Given the description of an element on the screen output the (x, y) to click on. 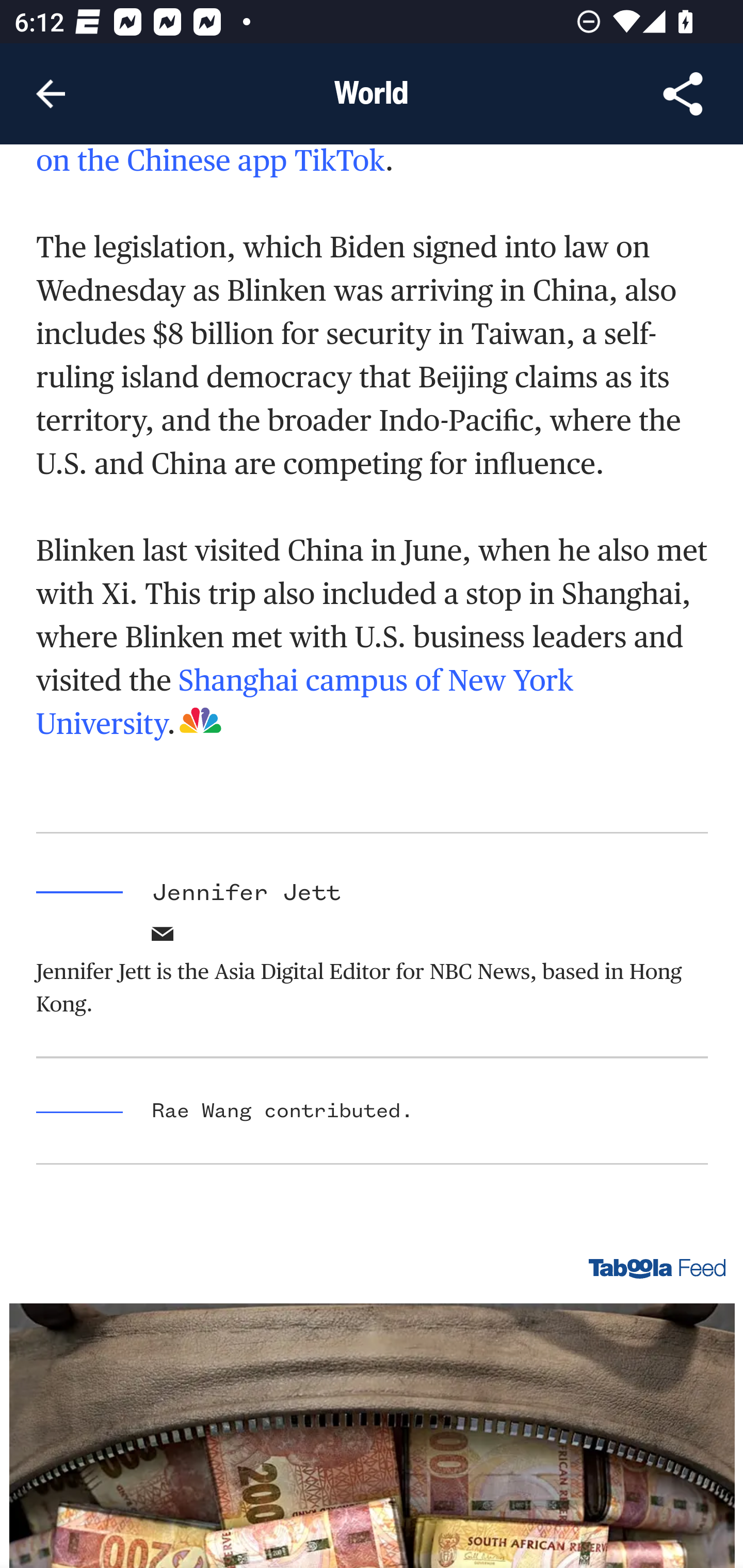
Navigate up (50, 93)
Share Article, button (683, 94)
U.S. ban on the Chinese app TikTok (351, 161)
Shanghai campus of New York University (305, 701)
Jennifer Jett (246, 894)
 (162, 939)
Image for Taboola Advertising Unit (372, 1435)
